Given the description of an element on the screen output the (x, y) to click on. 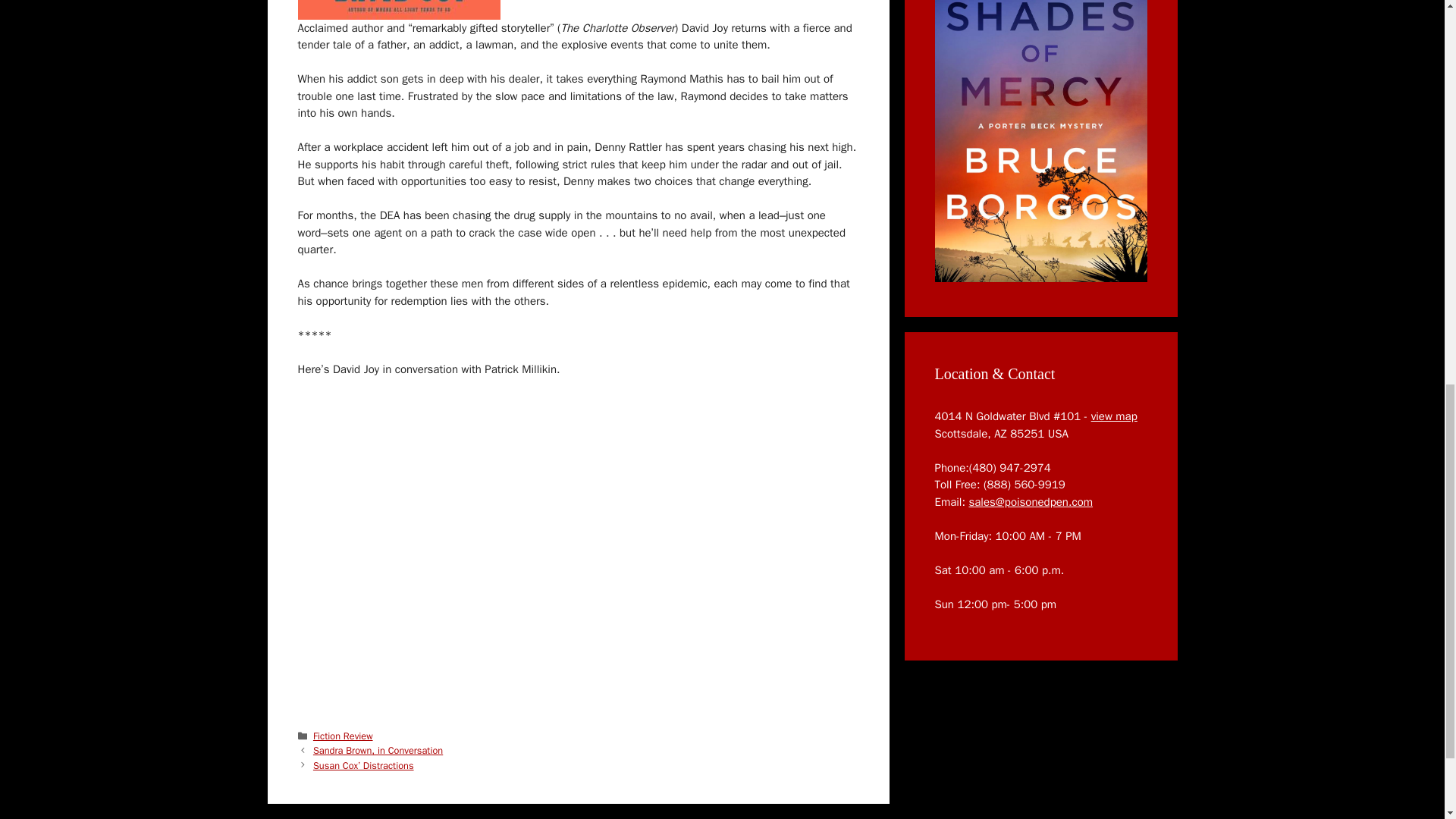
Scroll back to top (1406, 720)
Fiction Review (342, 736)
Sandra Brown, in Conversation (377, 750)
